Given the description of an element on the screen output the (x, y) to click on. 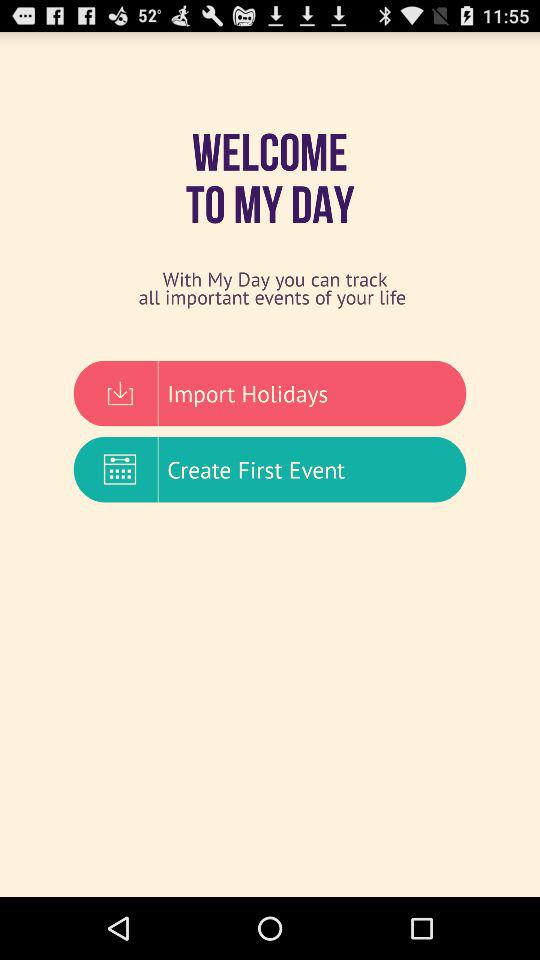
open create first event (269, 469)
